Given the description of an element on the screen output the (x, y) to click on. 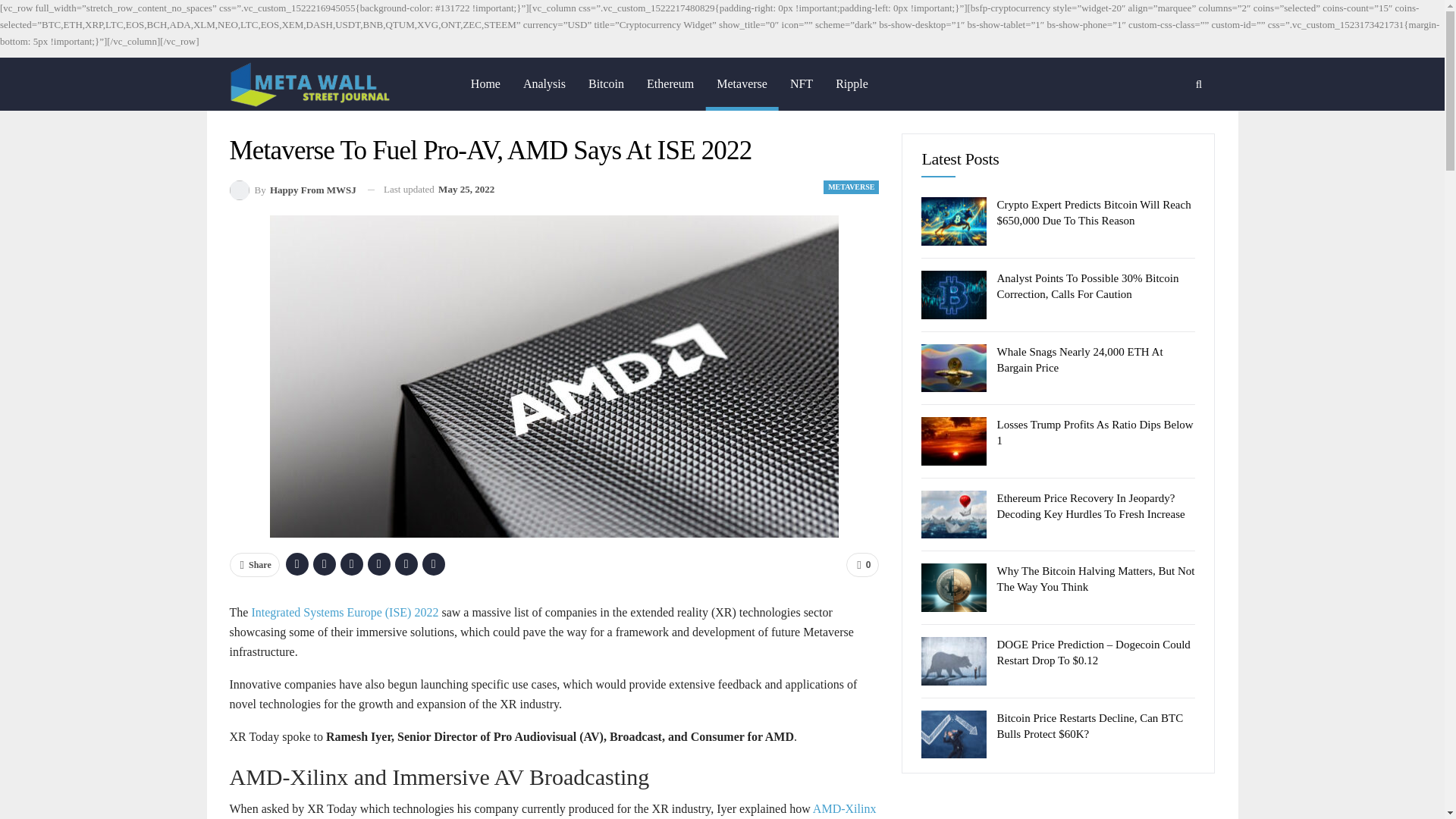
AMD-Xilinx (844, 808)
Home (486, 83)
Analysis (544, 83)
Metaverse (741, 83)
Browse Author Articles (291, 189)
Ethereum (669, 83)
METAVERSE (851, 187)
By Happy From MWSJ (291, 189)
0 (862, 564)
Ripple (851, 83)
Bitcoin (605, 83)
